Given the description of an element on the screen output the (x, y) to click on. 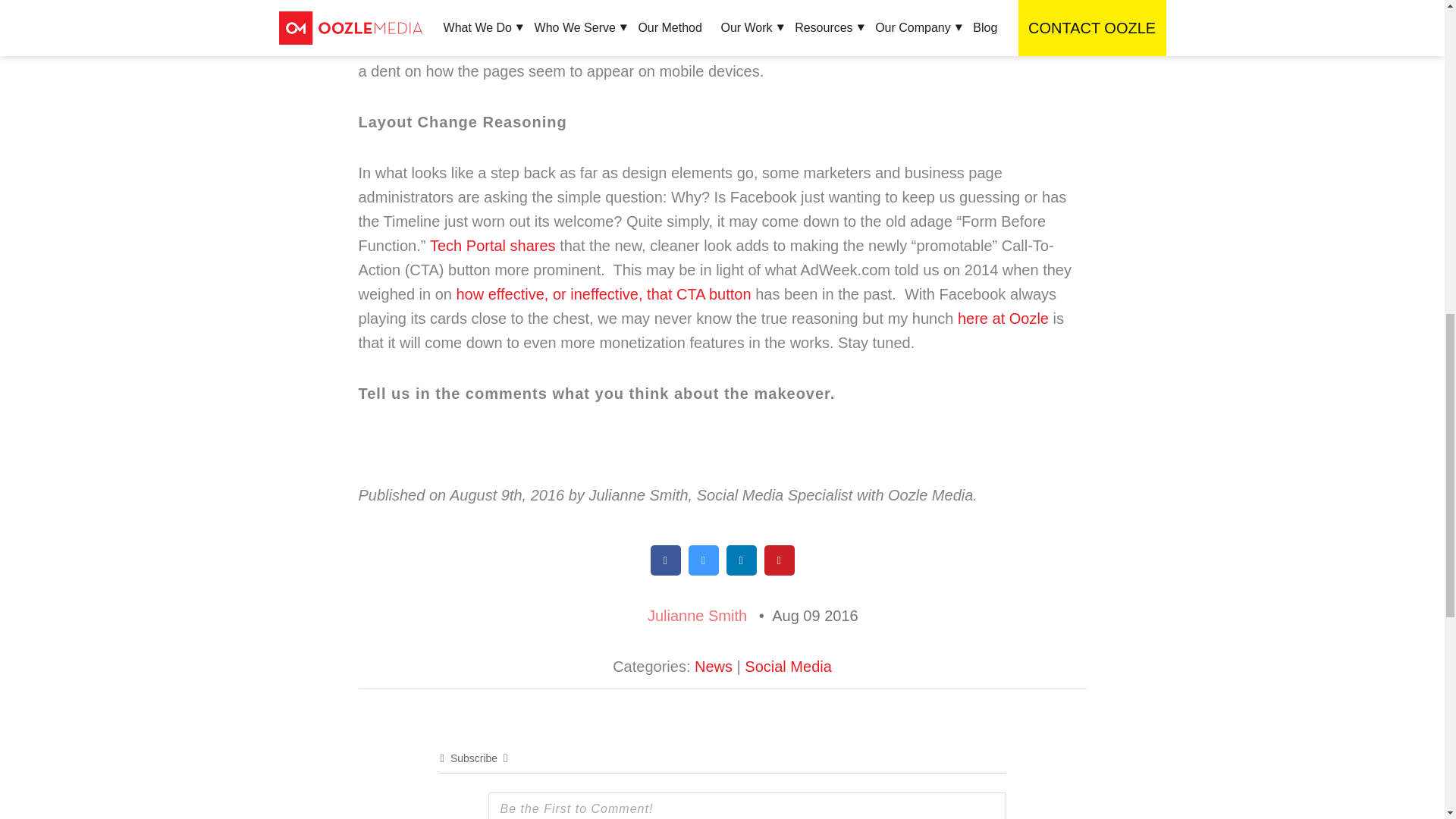
Share on Facebook (665, 571)
Share to LinkedIn (741, 571)
Share on Twitter (703, 571)
Share on Pinterest (779, 571)
